Given the description of an element on the screen output the (x, y) to click on. 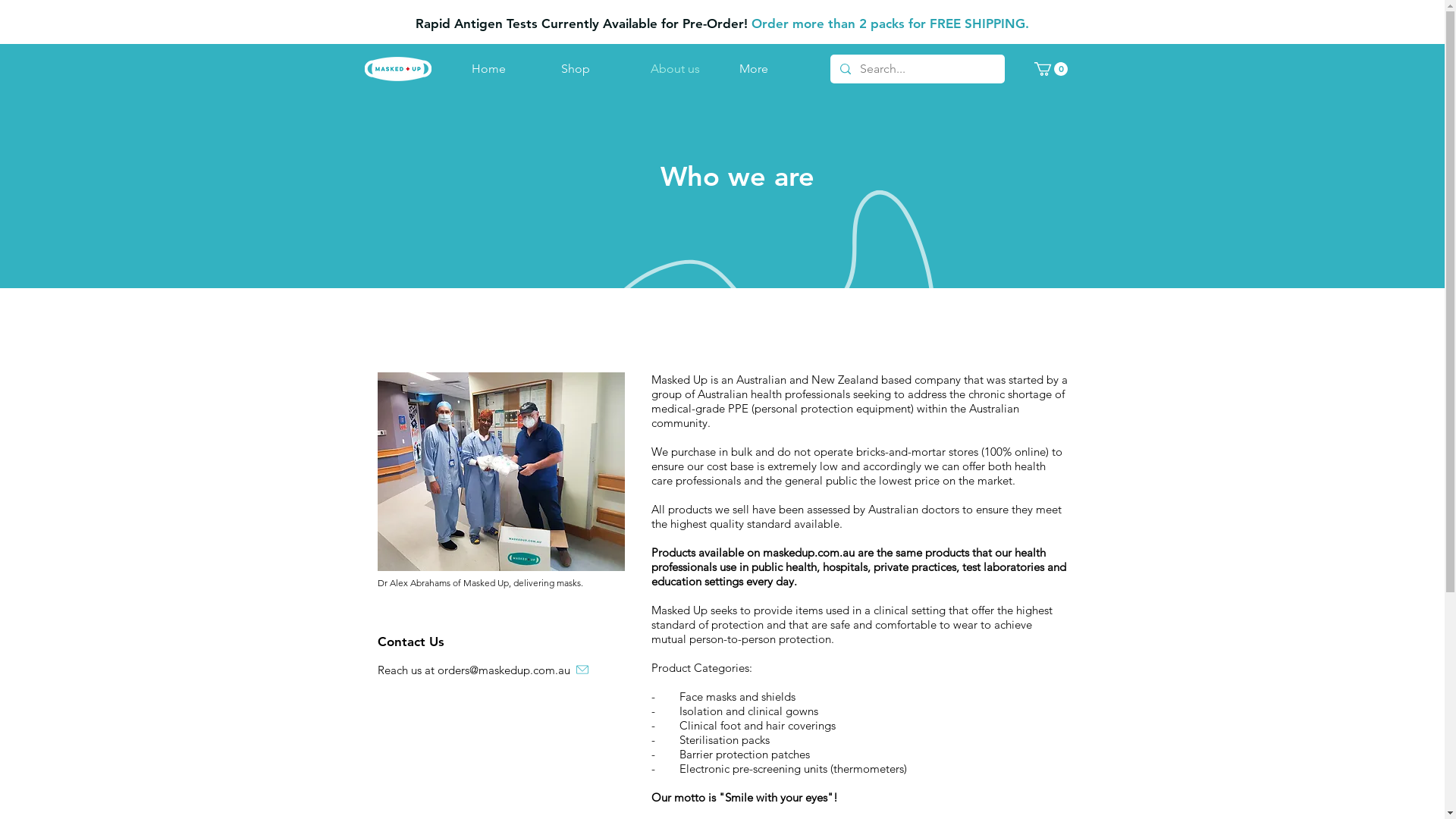
About us Element type: text (682, 68)
Reach us at orders@maskedup.com.au Element type: text (518, 669)
Shop Element type: text (593, 68)
0 Element type: text (1050, 68)
Home Element type: text (504, 68)
